Given the description of an element on the screen output the (x, y) to click on. 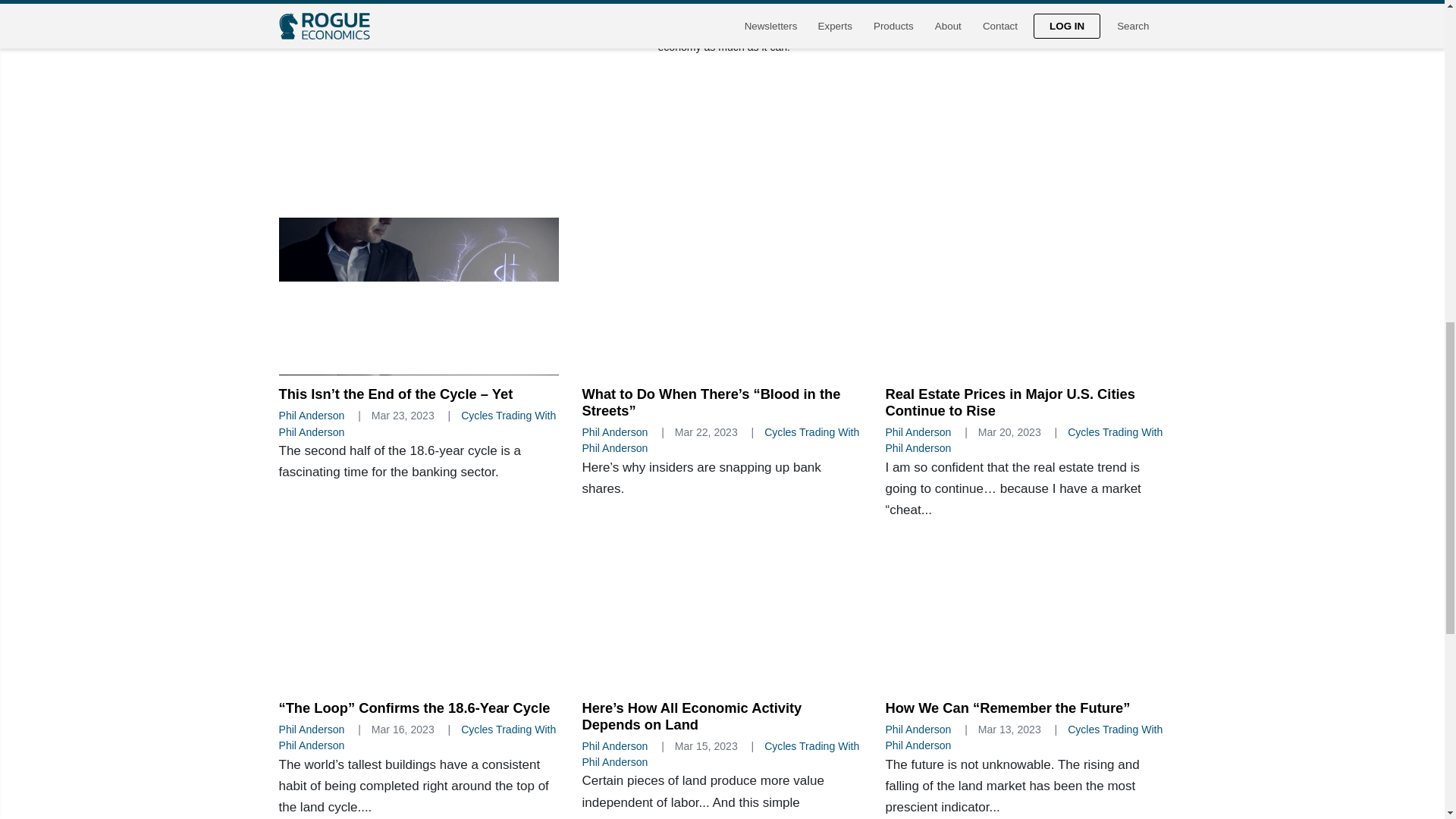
Cycles Trading With Phil Anderson (719, 439)
Cycles Trading With Phil Anderson (417, 423)
Phil Anderson (917, 431)
Phil Anderson (613, 431)
Real Estate Prices in Major U.S. Cities Continue to Rise (1009, 401)
Phil Anderson (312, 415)
Cycles Trading With Phil Anderson (922, 15)
Cycles Trading With Phil Anderson (1023, 439)
Phil Anderson (690, 15)
